Given the description of an element on the screen output the (x, y) to click on. 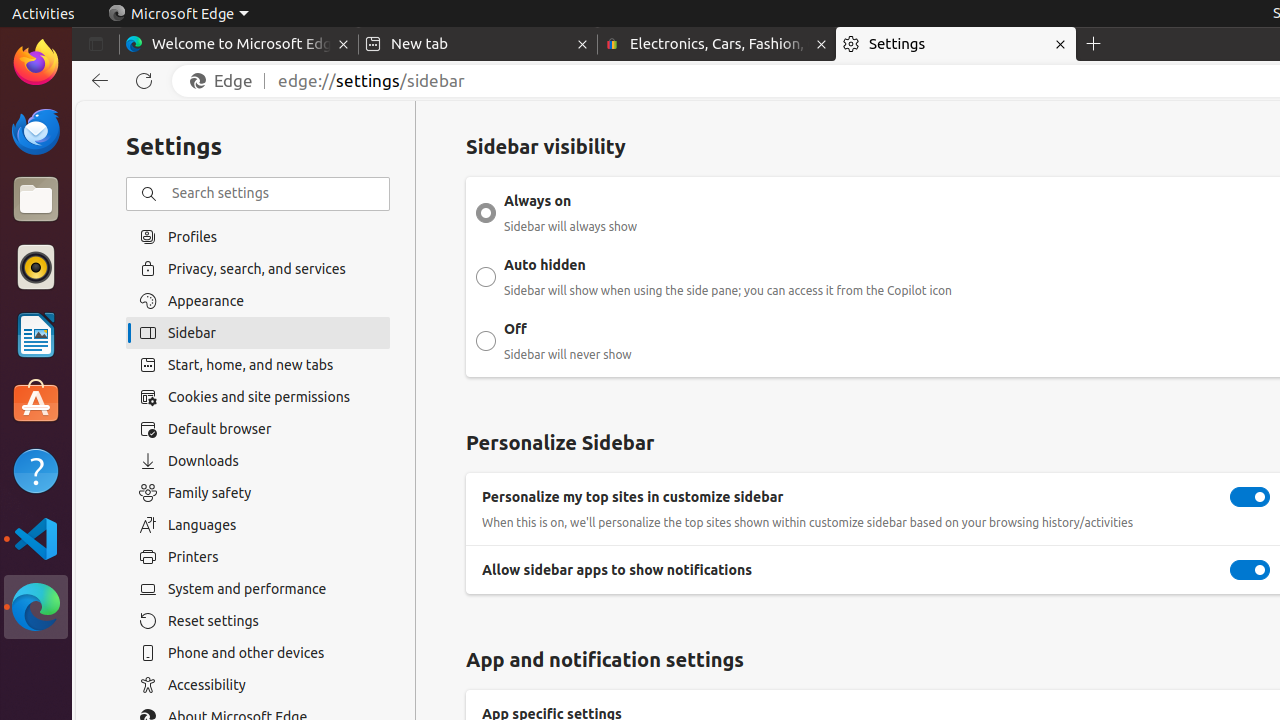
Firefox Web Browser Element type: push-button (36, 63)
System and performance Element type: tree-item (258, 589)
Cookies and site permissions Element type: tree-item (258, 397)
Microsoft Edge Element type: menu (178, 13)
Privacy, search, and services Element type: tree-item (258, 268)
